Given the description of an element on the screen output the (x, y) to click on. 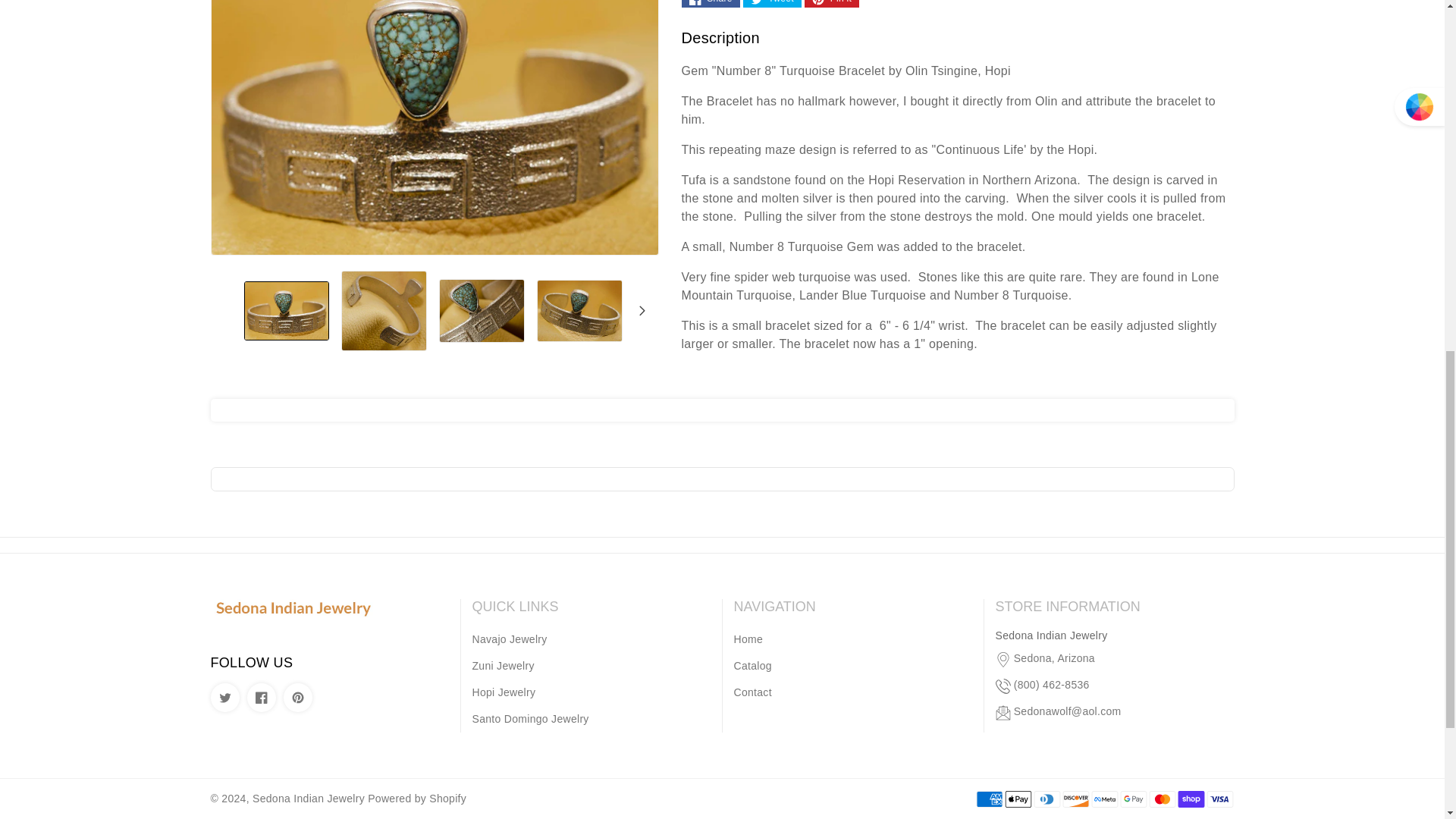
Apple Pay (1018, 799)
American Express (989, 799)
